Given the description of an element on the screen output the (x, y) to click on. 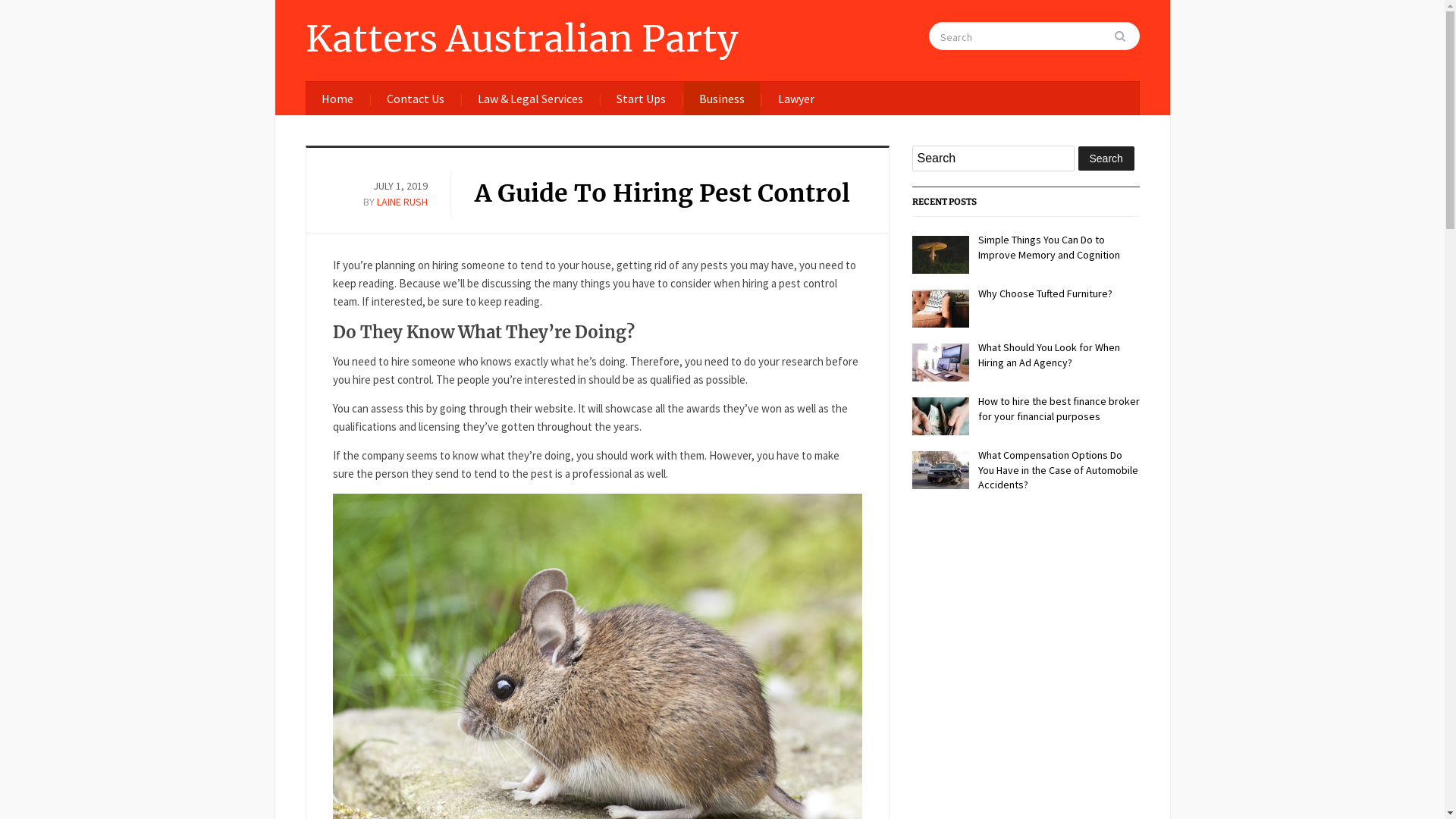
Why Choose Tufted Furniture? Element type: text (1045, 293)
Business Element type: text (721, 98)
Law & Legal Services Element type: text (530, 98)
Lawyer Element type: text (795, 98)
Search Element type: text (1125, 35)
A Guide To Hiring Pest Control Element type: text (662, 193)
Home Element type: text (337, 98)
Contact Us Element type: text (415, 98)
What Should You Look for When Hiring an Ad Agency? Element type: text (1049, 354)
Search Element type: text (1106, 158)
Simple Things You Can Do to Improve Memory and Cognition Element type: text (1049, 246)
LAINE RUSH Element type: text (401, 201)
Start Ups Element type: text (640, 98)
Katters Australian Party Element type: text (520, 38)
